Given the description of an element on the screen output the (x, y) to click on. 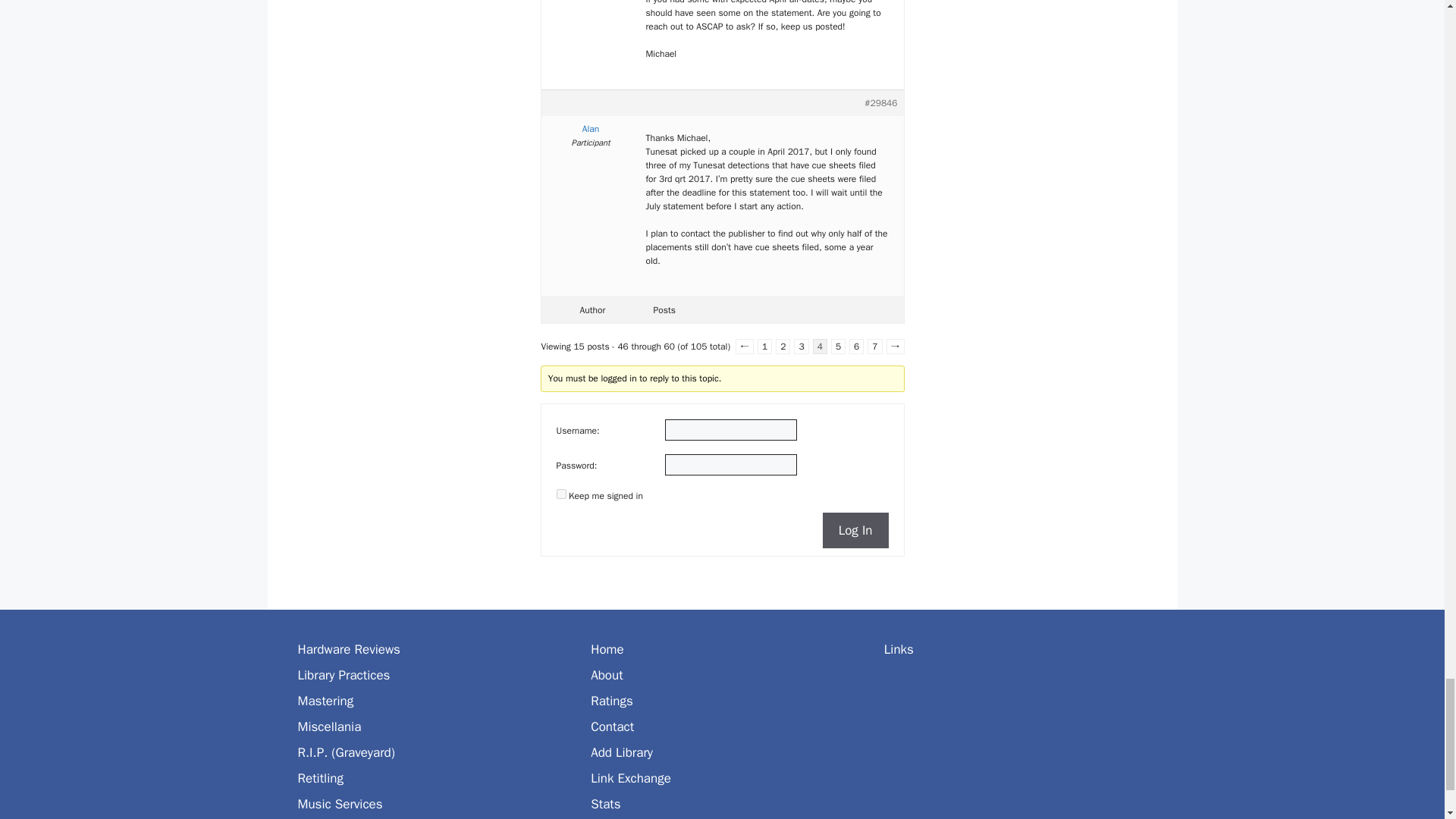
forever (561, 493)
